Given the description of an element on the screen output the (x, y) to click on. 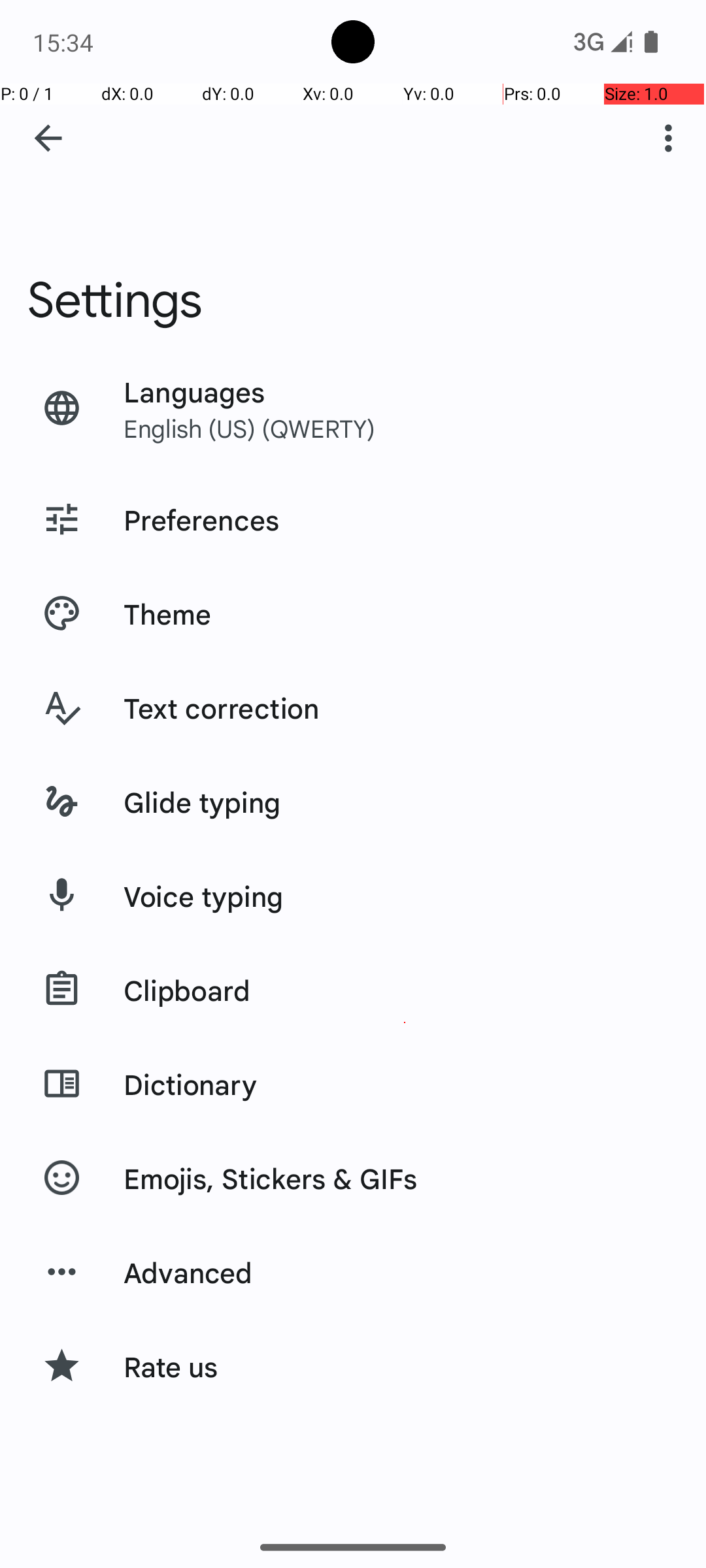
Languages Element type: android.widget.TextView (194, 390)
English (US) (QWERTY) Element type: android.widget.TextView (249, 427)
Preferences Element type: android.widget.TextView (201, 519)
Theme Element type: android.widget.TextView (167, 613)
Text correction Element type: android.widget.TextView (221, 707)
Glide typing Element type: android.widget.TextView (202, 801)
Voice typing Element type: android.widget.TextView (203, 895)
Dictionary Element type: android.widget.TextView (189, 1083)
Emojis, Stickers & GIFs Element type: android.widget.TextView (270, 1177)
Advanced Element type: android.widget.TextView (187, 1271)
Rate us Element type: android.widget.TextView (170, 1365)
